Given the description of an element on the screen output the (x, y) to click on. 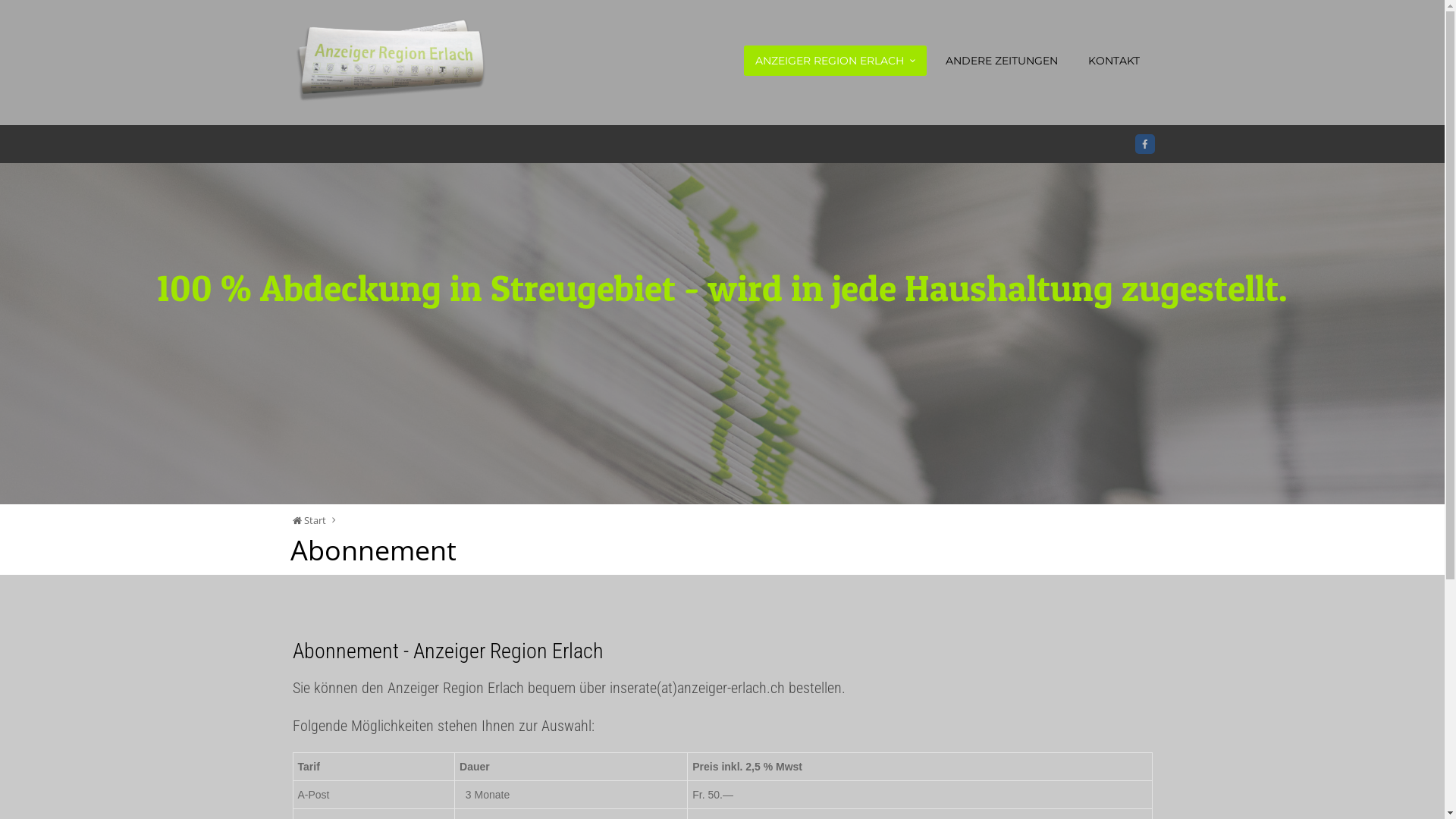
ANDERE ZEITUNGEN Element type: text (1001, 60)
KONTAKT Element type: text (1113, 60)
ANZEIGER REGION ERLACH Element type: text (834, 60)
Start Element type: text (309, 520)
